Given the description of an element on the screen output the (x, y) to click on. 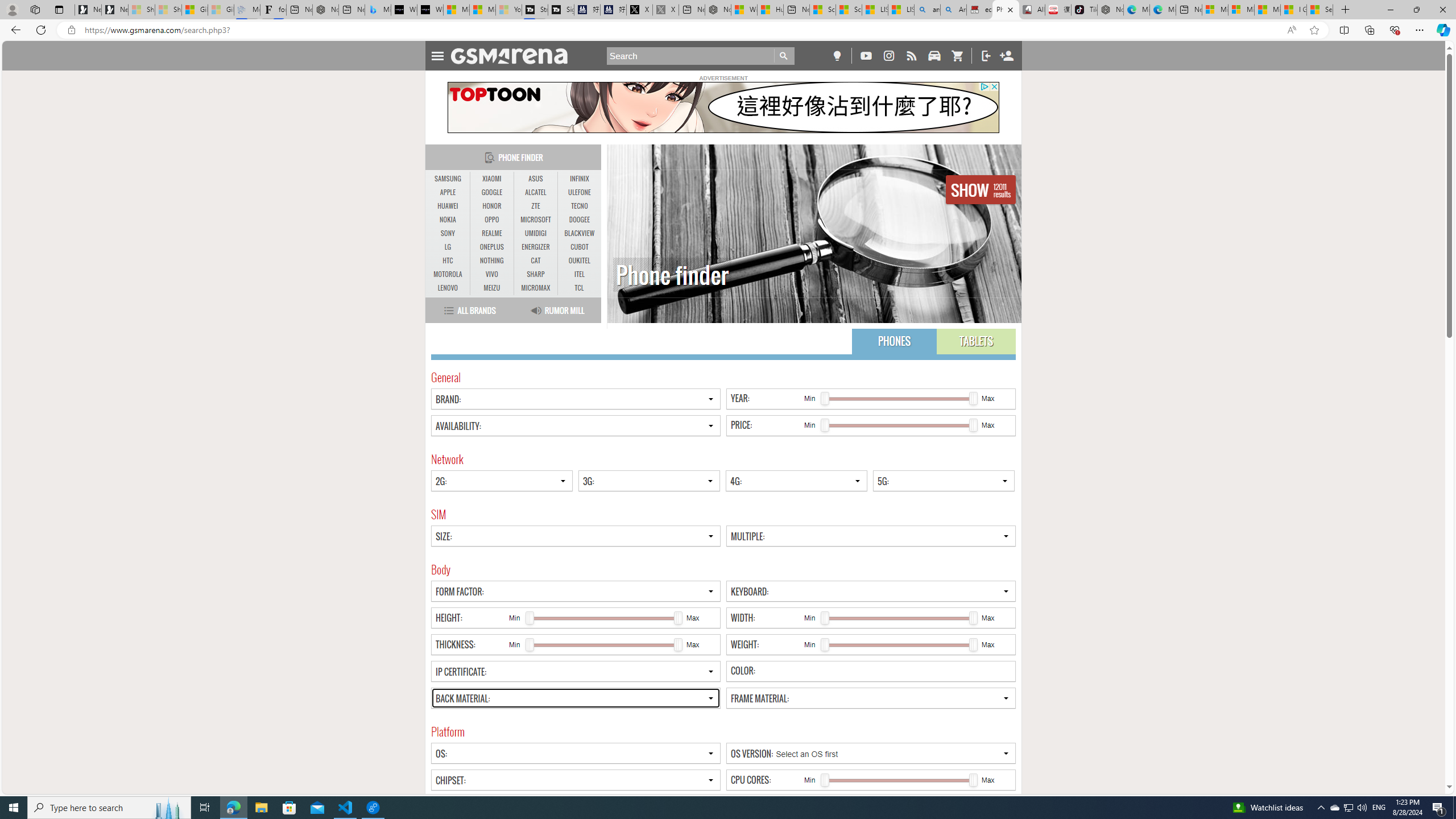
MICROMAX (535, 287)
ITEL (579, 273)
ITEL (579, 273)
MEIZU (491, 287)
UMIDIGI (535, 233)
LENOVO (448, 287)
To get missing image descriptions, open the context menu. (722, 106)
